Given the description of an element on the screen output the (x, y) to click on. 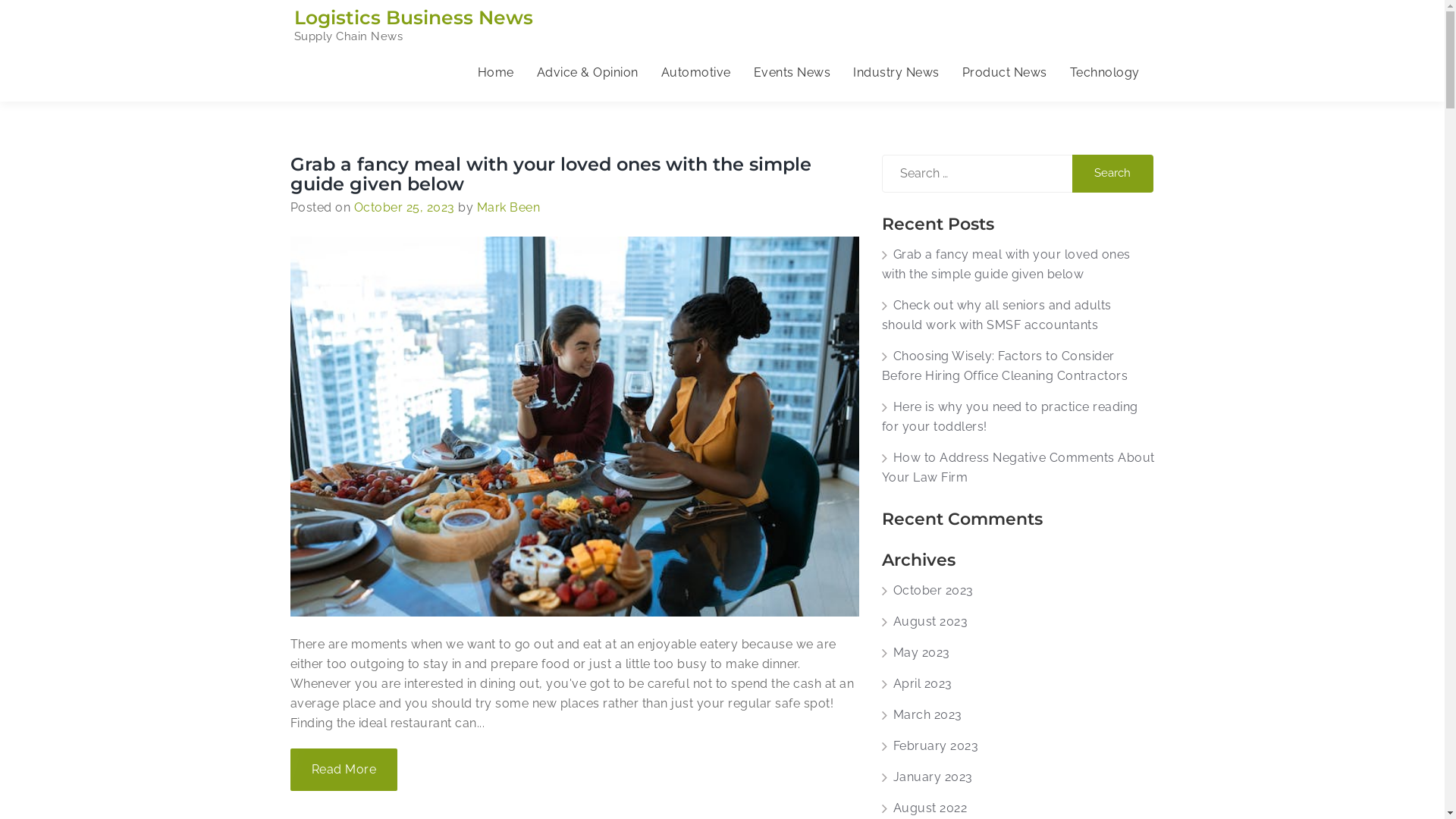
Search Element type: text (1113, 173)
Advice & Opinion Element type: text (586, 72)
How to Address Negative Comments About Your Law Firm Element type: text (1017, 467)
Here is why you need to practice reading for your toddlers! Element type: text (1009, 416)
Logistics Business News Element type: text (413, 17)
Industry News Element type: text (895, 72)
Read More Element type: text (343, 769)
April 2023 Element type: text (916, 683)
Mark Been Element type: text (507, 207)
Automotive Element type: text (695, 72)
March 2023 Element type: text (921, 714)
January 2023 Element type: text (926, 776)
August 2022 Element type: text (923, 807)
Events News Element type: text (791, 72)
August 2023 Element type: text (924, 621)
Product News Element type: text (1004, 72)
February 2023 Element type: text (929, 745)
October 2023 Element type: text (926, 590)
October 25, 2023 Element type: text (403, 207)
Technology Element type: text (1104, 72)
May 2023 Element type: text (915, 652)
Home Element type: text (494, 72)
